Given the description of an element on the screen output the (x, y) to click on. 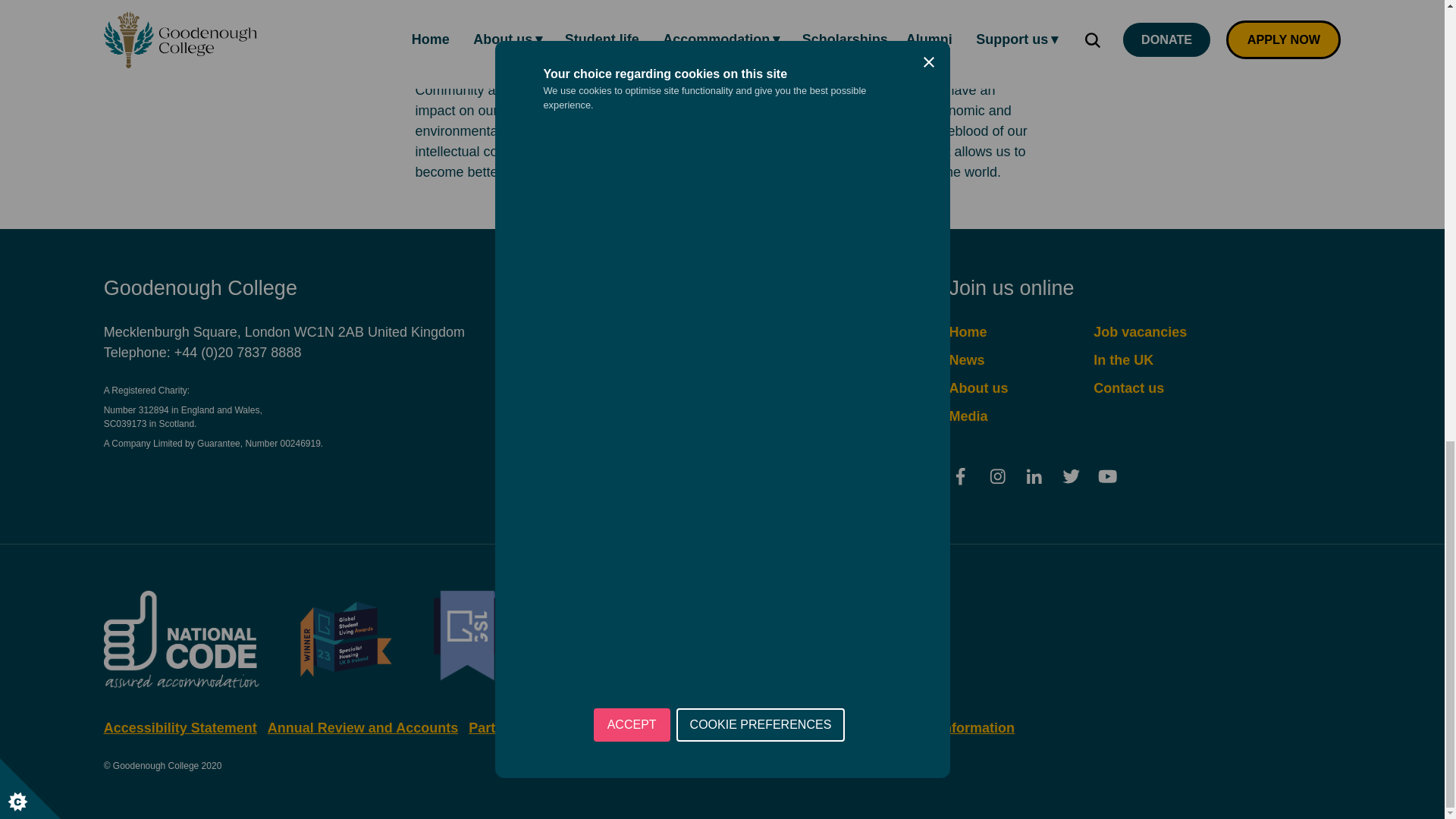
COOKIE PREFERENCES (761, 672)
ACCEPT (631, 756)
